Given the description of an element on the screen output the (x, y) to click on. 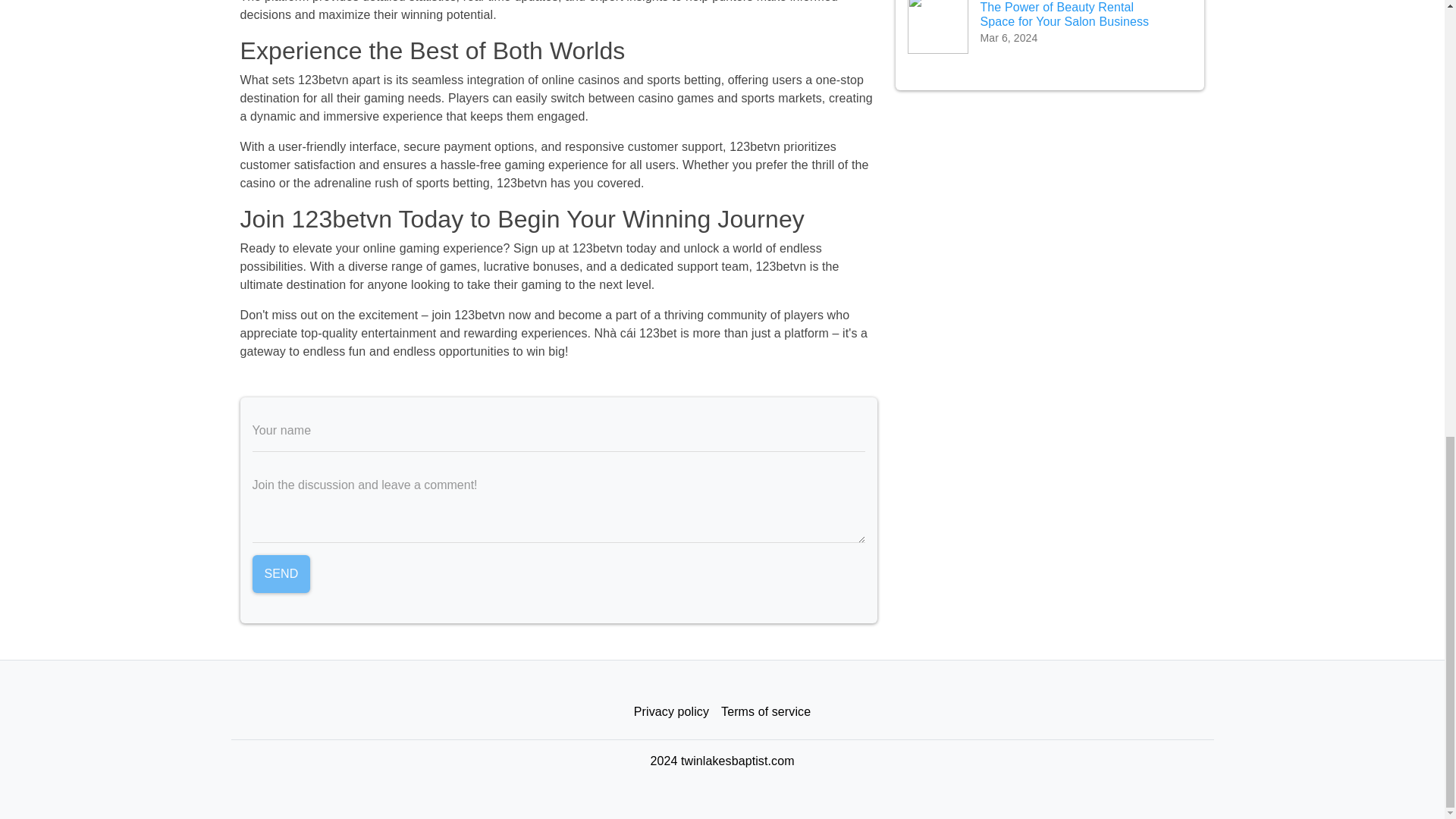
Privacy policy (670, 711)
Send (280, 573)
Send (280, 573)
Terms of service (765, 711)
